Given the description of an element on the screen output the (x, y) to click on. 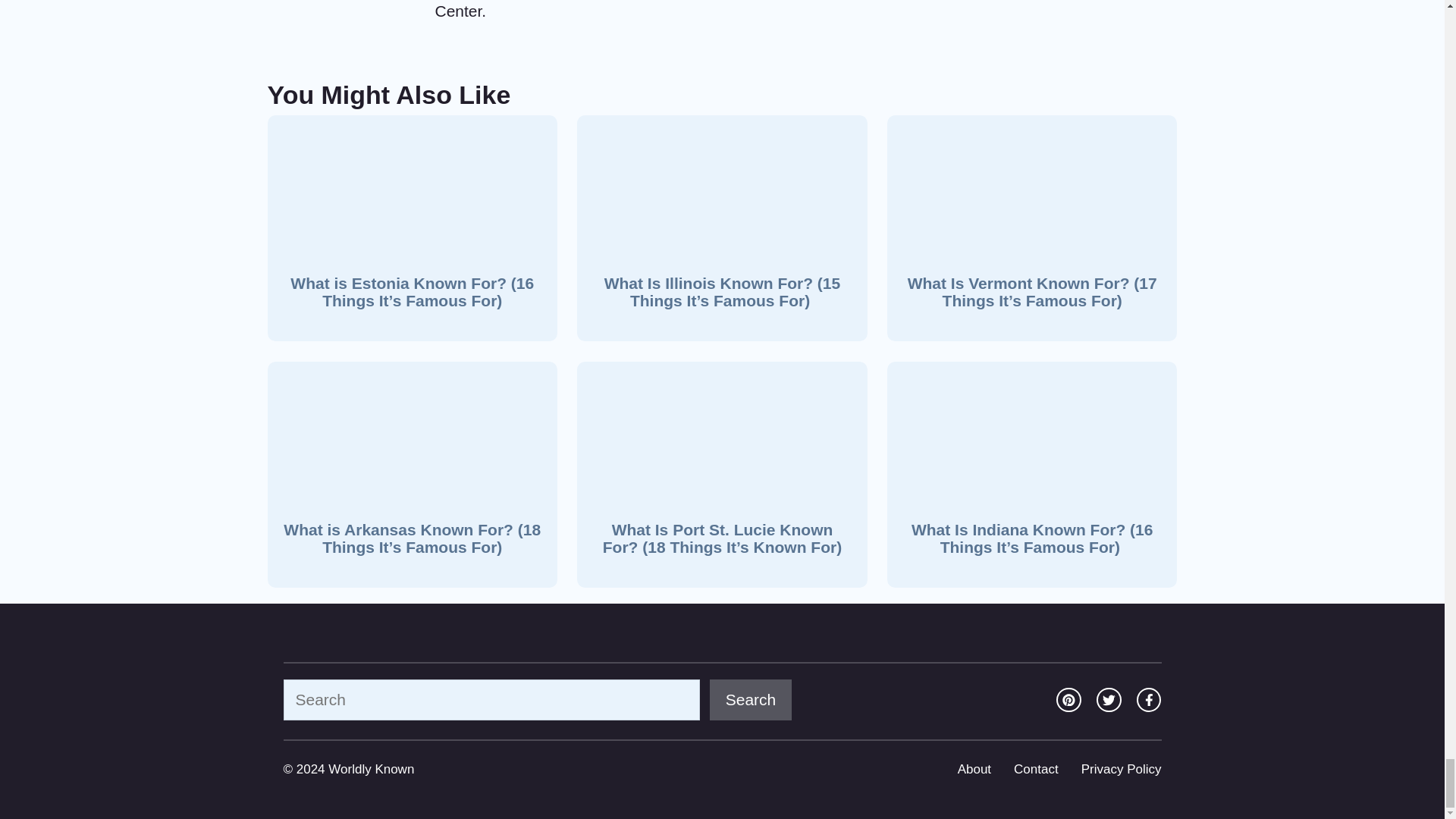
Search (751, 699)
Contact (1035, 769)
About (974, 769)
Privacy Policy (1121, 769)
